Given the description of an element on the screen output the (x, y) to click on. 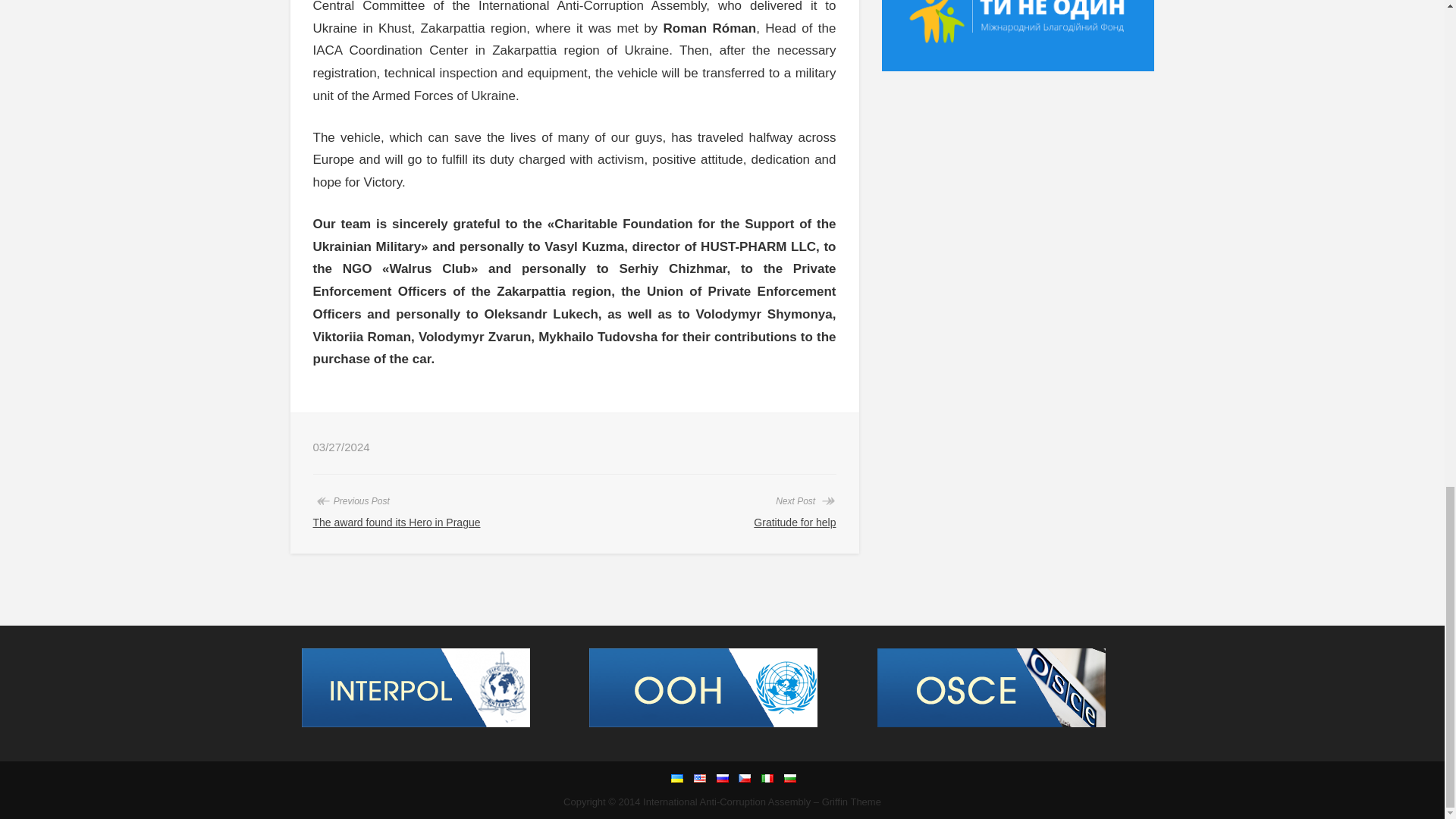
The award found its Hero in Prague (396, 522)
Gratitude for help (794, 522)
